Given the description of an element on the screen output the (x, y) to click on. 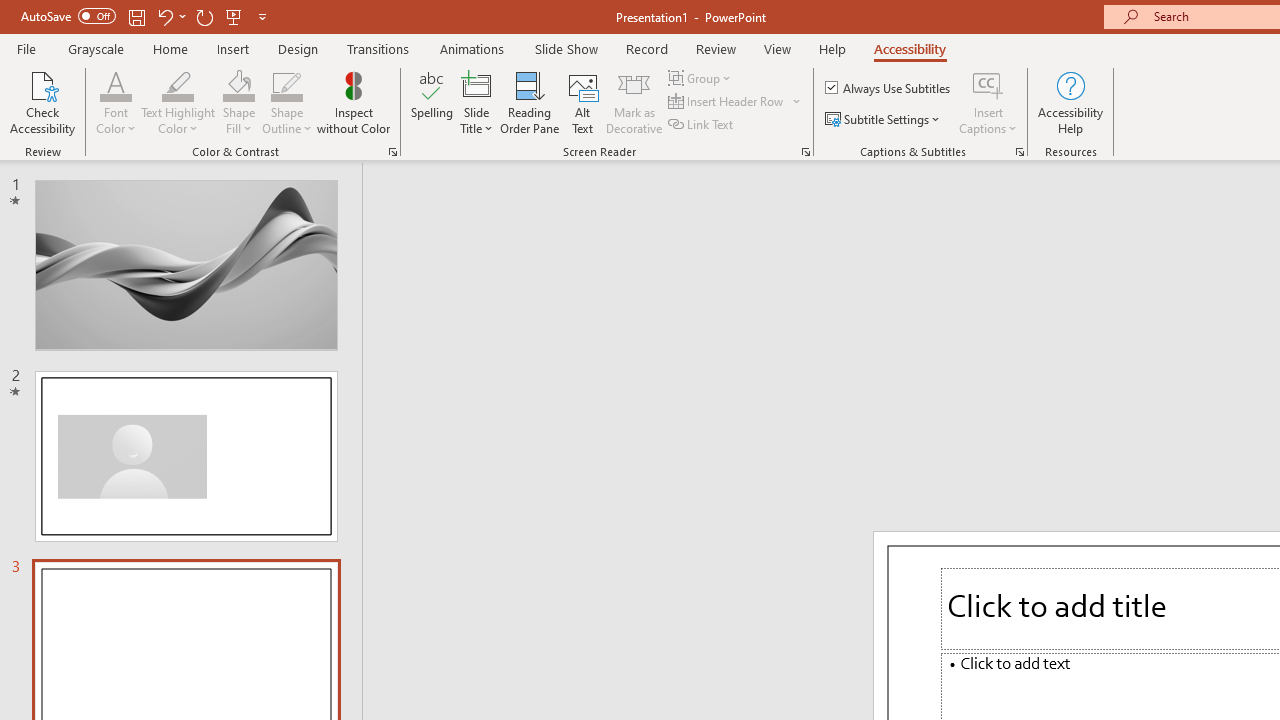
Group (701, 78)
Insert Captions (988, 102)
Insert Captions (988, 84)
Inspect without Color (353, 102)
Color & Contrast (392, 151)
